Given the description of an element on the screen output the (x, y) to click on. 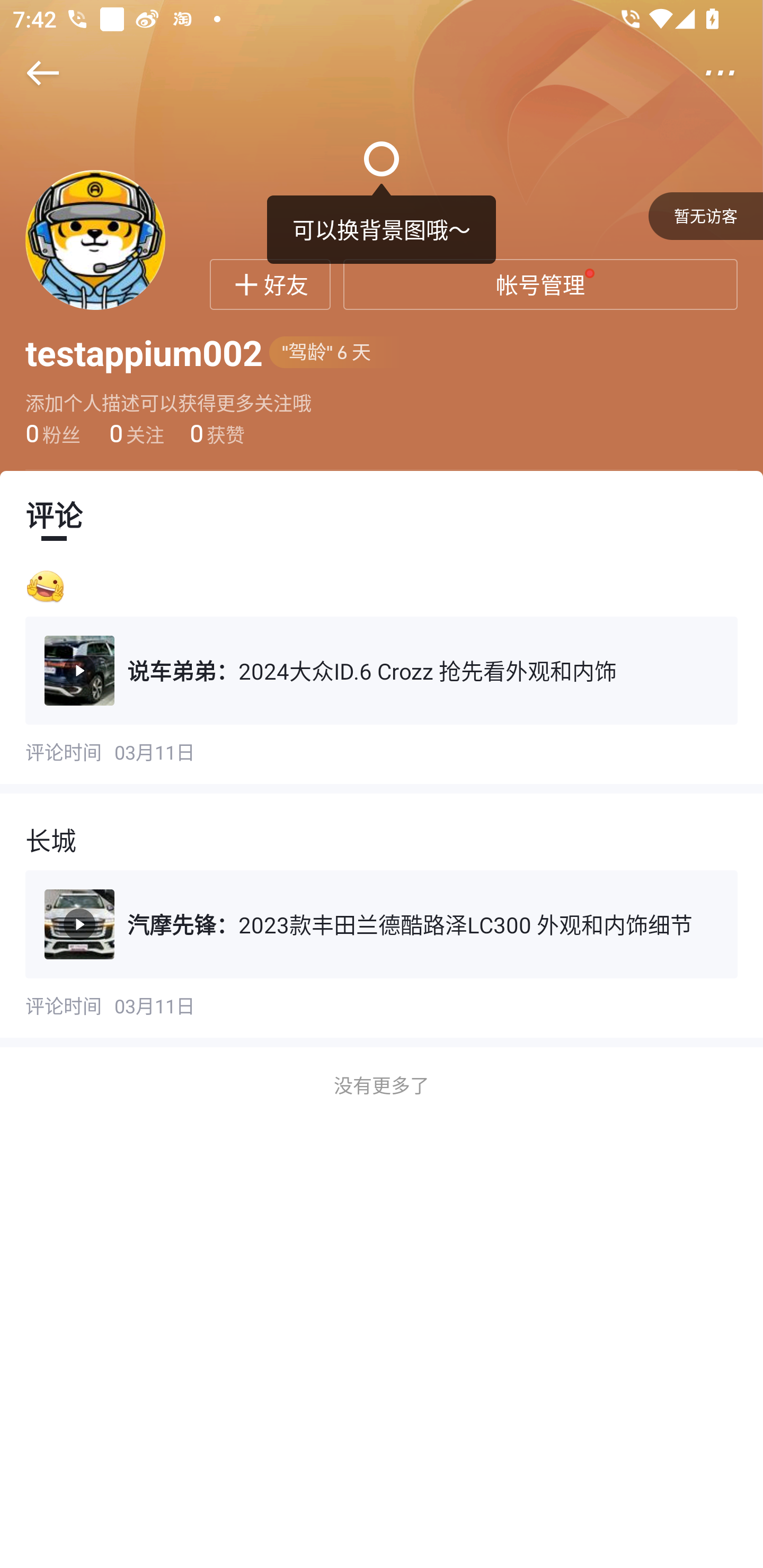
 (30, 72)
 (732, 72)
暂无访客 (705, 215)
 好友 (269, 284)
帐号管理 (540, 284)
"驾龄" 6 天 (335, 352)
0 粉丝 (52, 433)
0 关注 (135, 433)
0 获赞 (216, 433)
评论 (53, 514)
[耶] 说车弟弟：2024大众ID.6 Crozz 抢先看外观和内饰 评论时间 03月11日 (381, 670)
长城 汽摩先锋：2023款丰田兰德酷路泽LC300 外观和内饰细节 评论时间 03月11日 (381, 920)
